Given the description of an element on the screen output the (x, y) to click on. 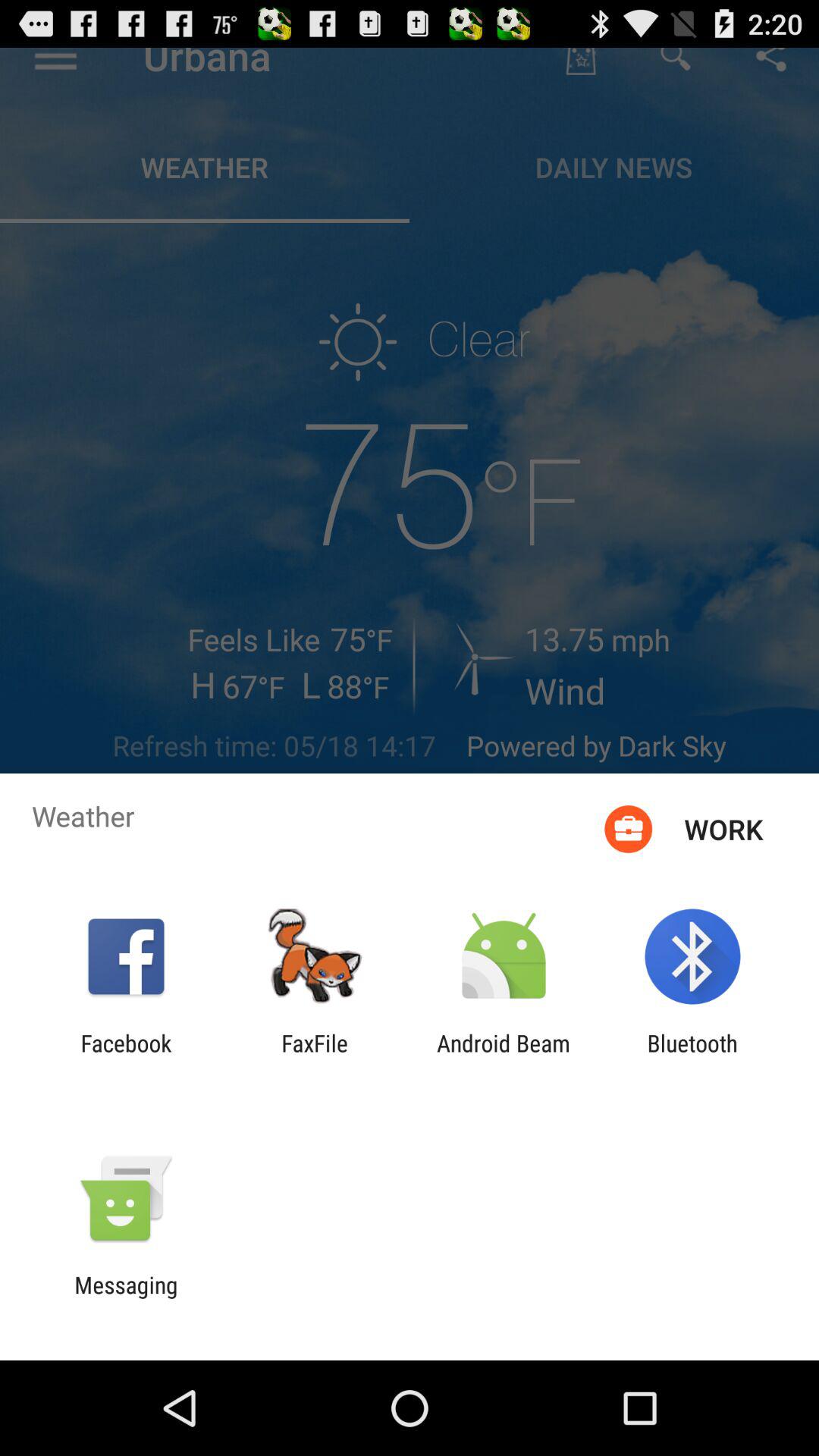
open the app to the right of the facebook item (314, 1056)
